Given the description of an element on the screen output the (x, y) to click on. 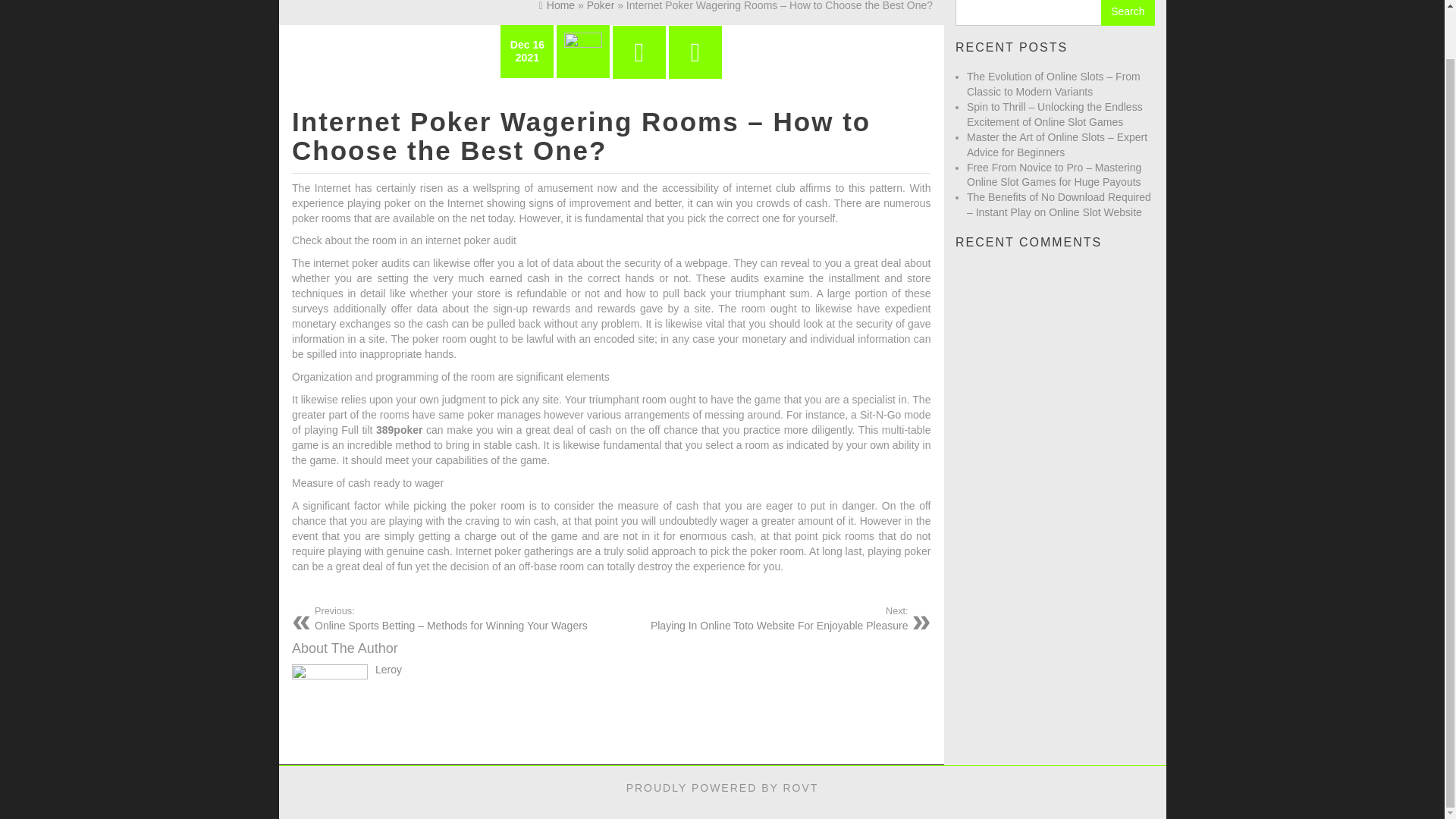
389poker (398, 429)
Home (556, 5)
Leroy (388, 669)
Search (765, 618)
Search (1127, 12)
Posts by Leroy (1127, 12)
Poker (388, 669)
